Given the description of an element on the screen output the (x, y) to click on. 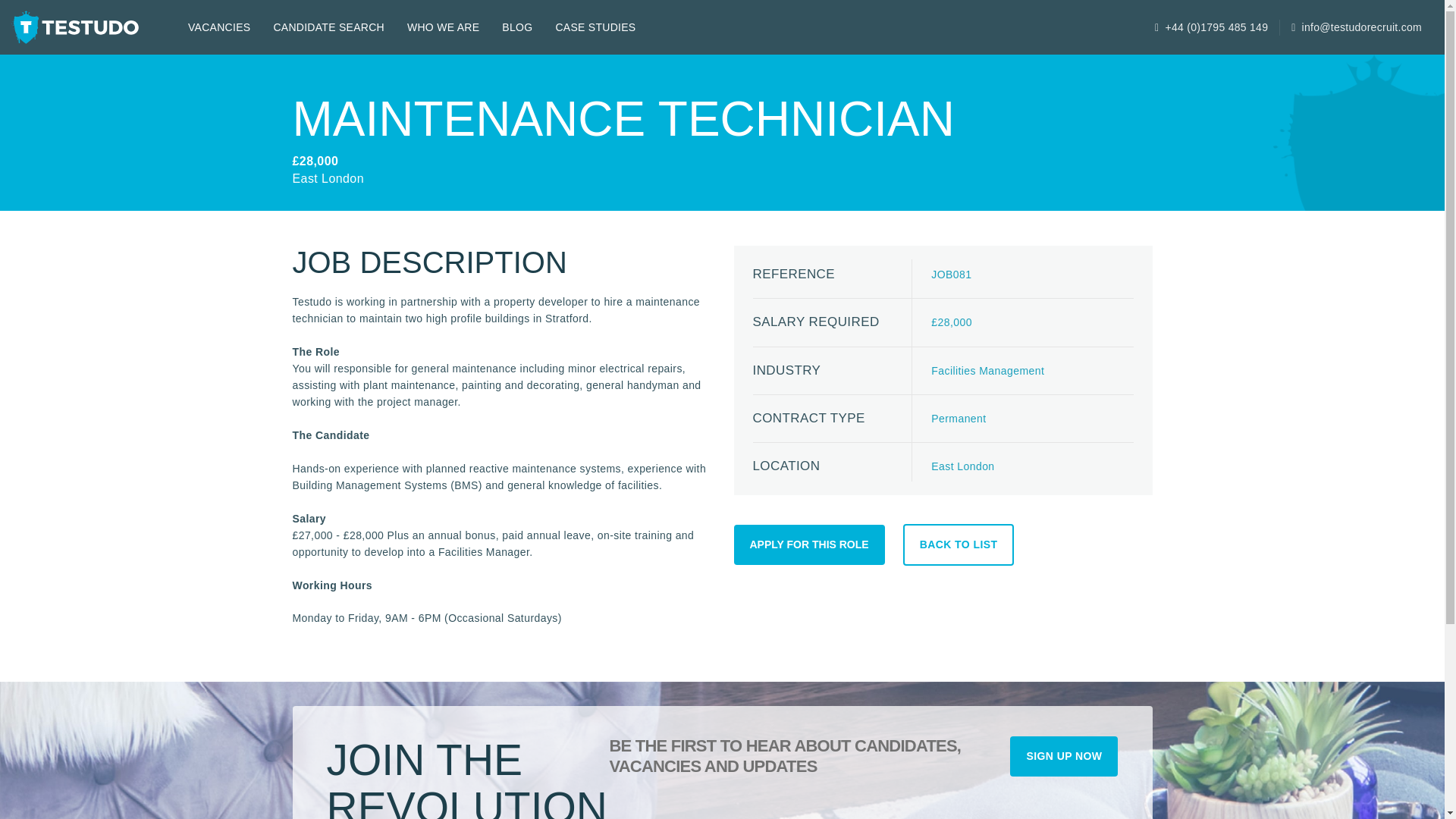
BLOG (516, 27)
CASE STUDIES (594, 27)
VACANCIES (219, 27)
APPLY FOR THIS ROLE (809, 544)
SIGN UP NOW (1064, 756)
WHO WE ARE (443, 27)
CANDIDATE SEARCH (329, 27)
BACK TO LIST (958, 544)
